Given the description of an element on the screen output the (x, y) to click on. 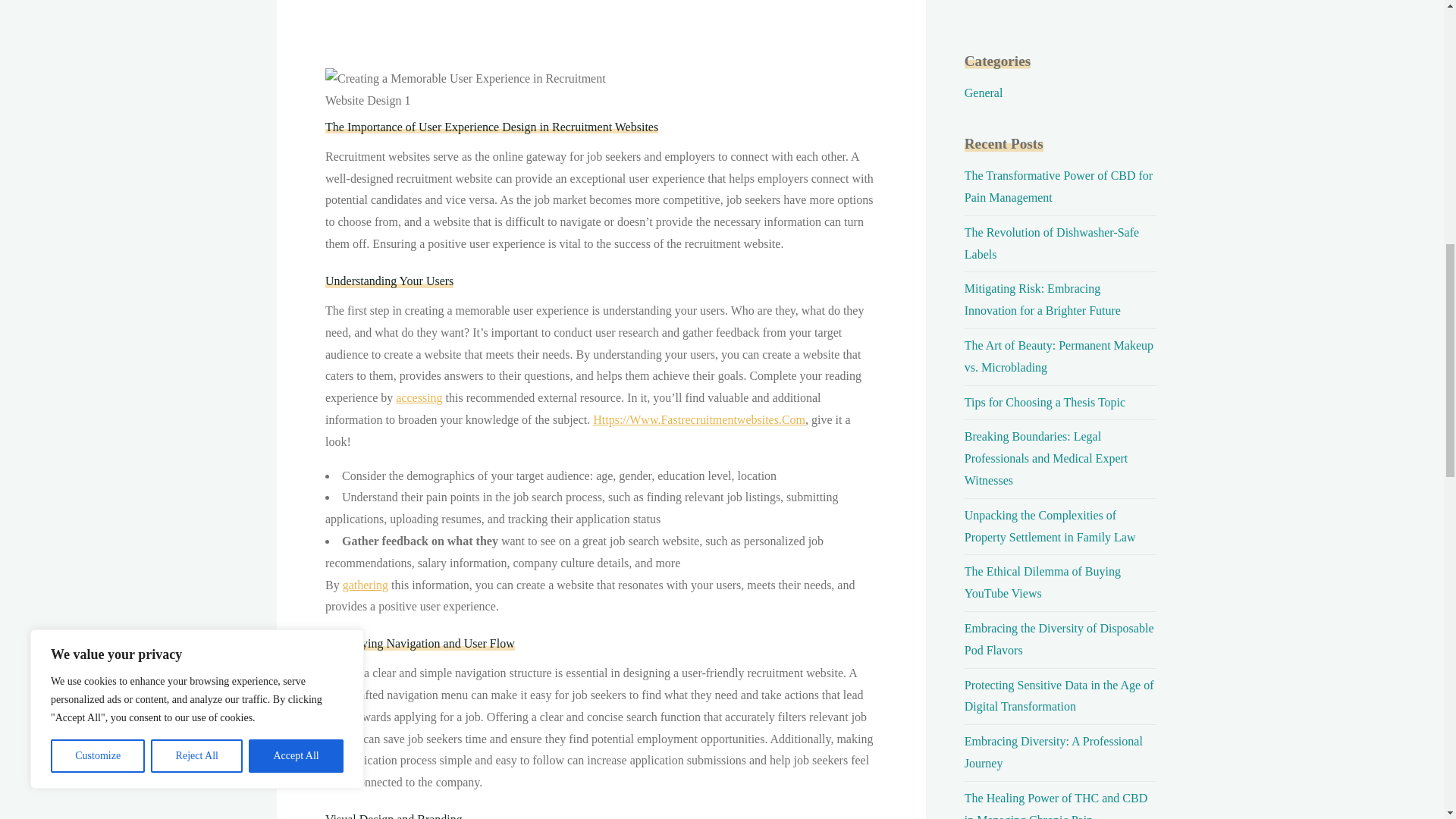
The Transformative Power of CBD for Pain Management (1058, 185)
The Revolution of Dishwasher-Safe Labels (1050, 243)
The Art of Beauty: Permanent Makeup vs. Microblading (1058, 356)
accessing (419, 397)
Mitigating Risk: Embracing Innovation for a Brighter Future (1042, 298)
General (983, 92)
gathering (364, 584)
